Given the description of an element on the screen output the (x, y) to click on. 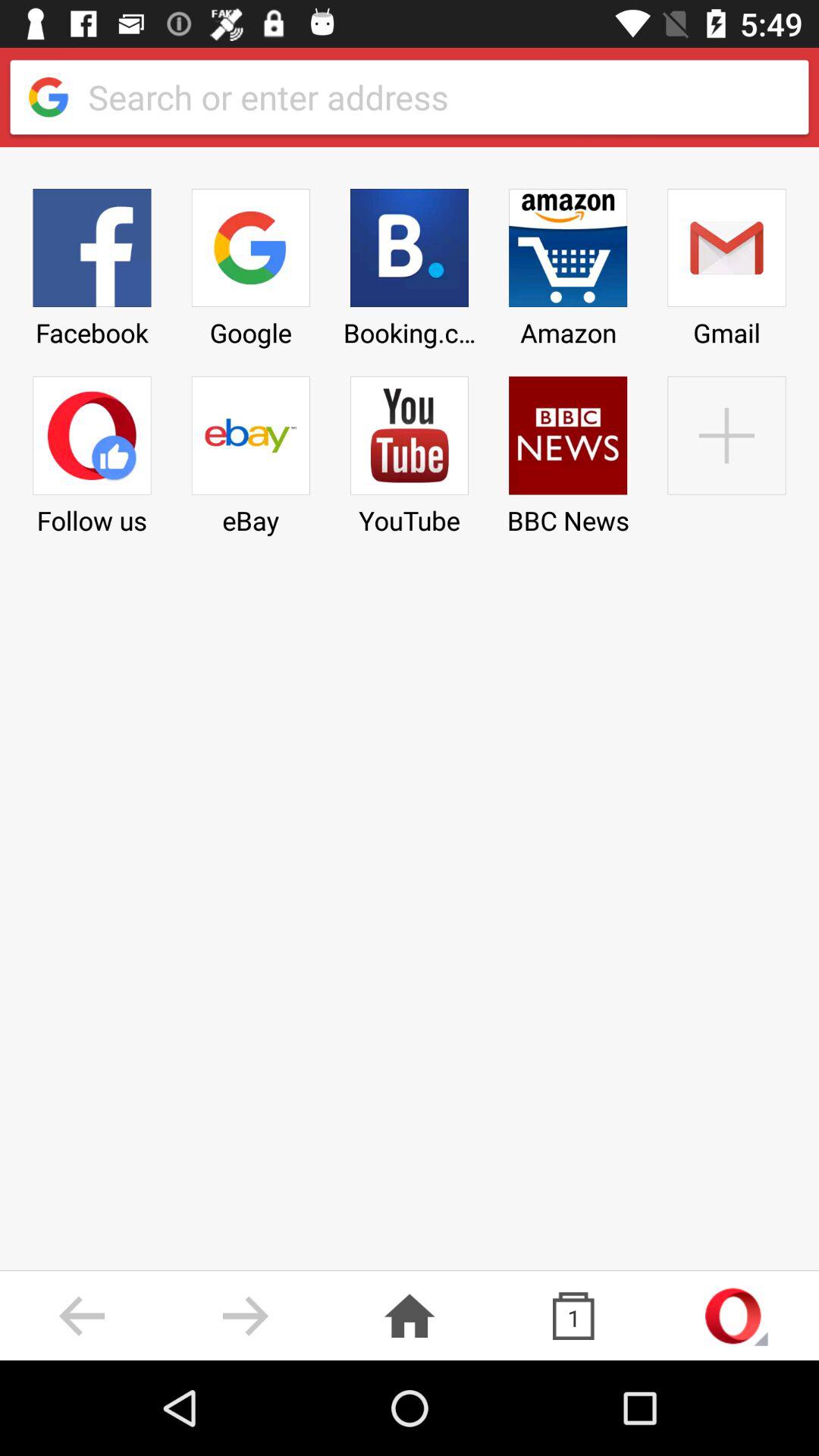
launch the icon to the right of the booking.com icon (568, 262)
